Given the description of an element on the screen output the (x, y) to click on. 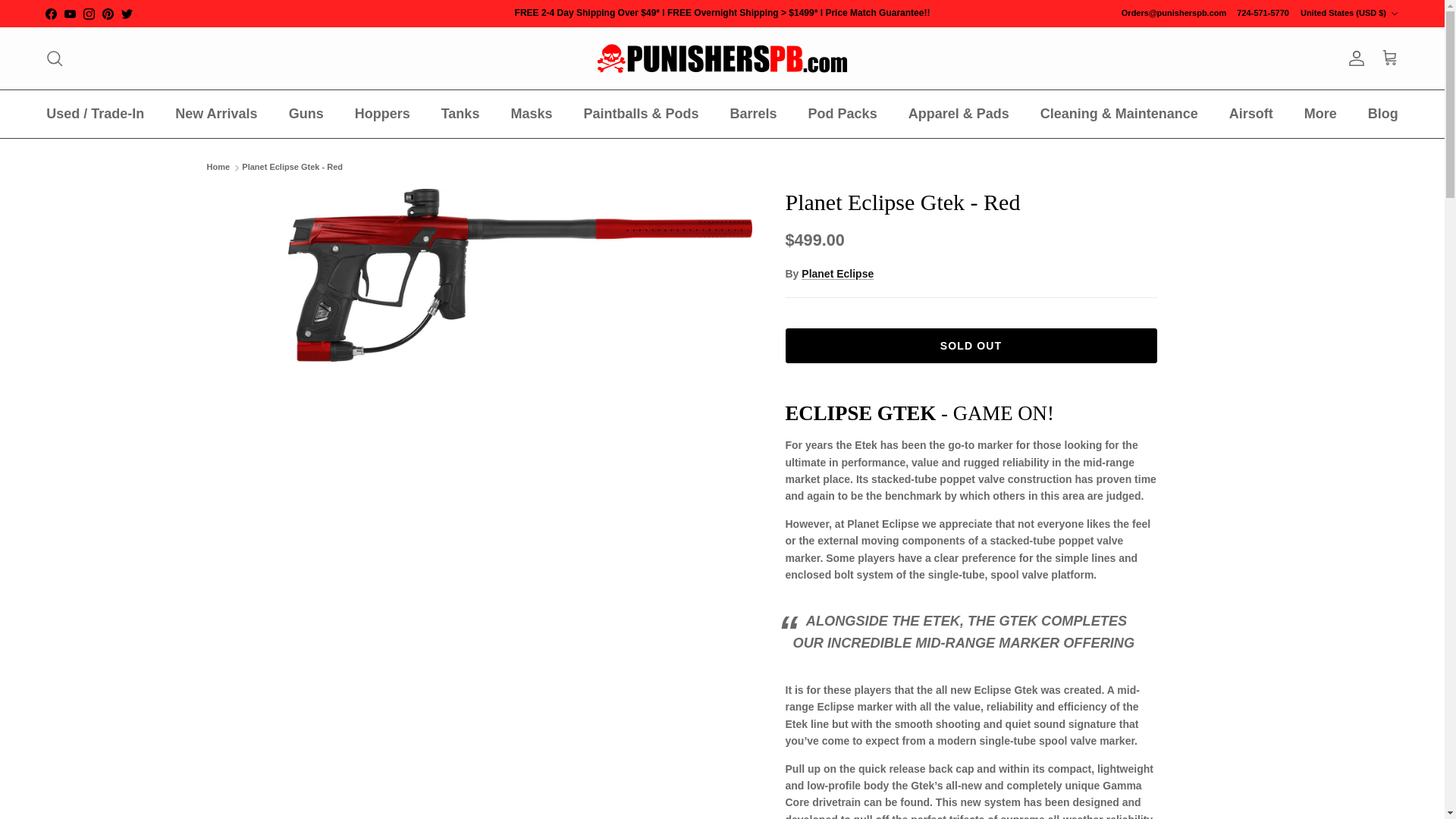
Facebook (50, 12)
Punishers Paintball on YouTube (69, 12)
Search (54, 58)
724-571-5770 (1262, 13)
Account (1352, 58)
YouTube (69, 12)
Punishers Paintball on Facebook (50, 12)
Instagram (88, 12)
New Arrivals (215, 114)
Twitter (126, 12)
Cart (1389, 57)
Punishers Paintball on Twitter (126, 12)
Punishers Paintball on Instagram (88, 12)
Guns (306, 114)
Pinterest (107, 12)
